Given the description of an element on the screen output the (x, y) to click on. 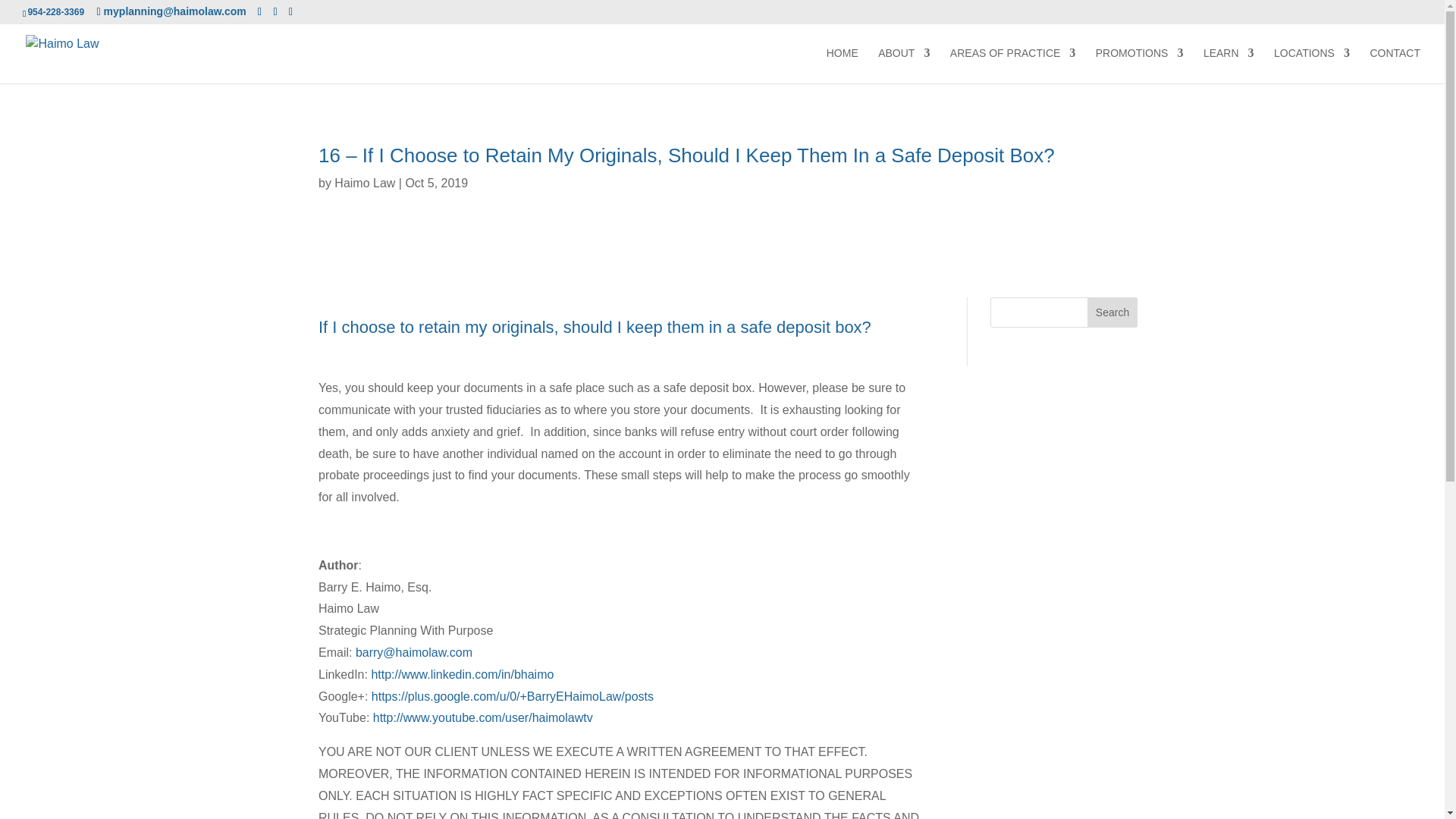
HOME (843, 65)
Posts by Haimo Law (364, 182)
AREAS OF PRACTICE (1012, 65)
LEARN (1228, 65)
ABOUT (903, 65)
PROMOTIONS (1139, 65)
Search (1112, 312)
